Given the description of an element on the screen output the (x, y) to click on. 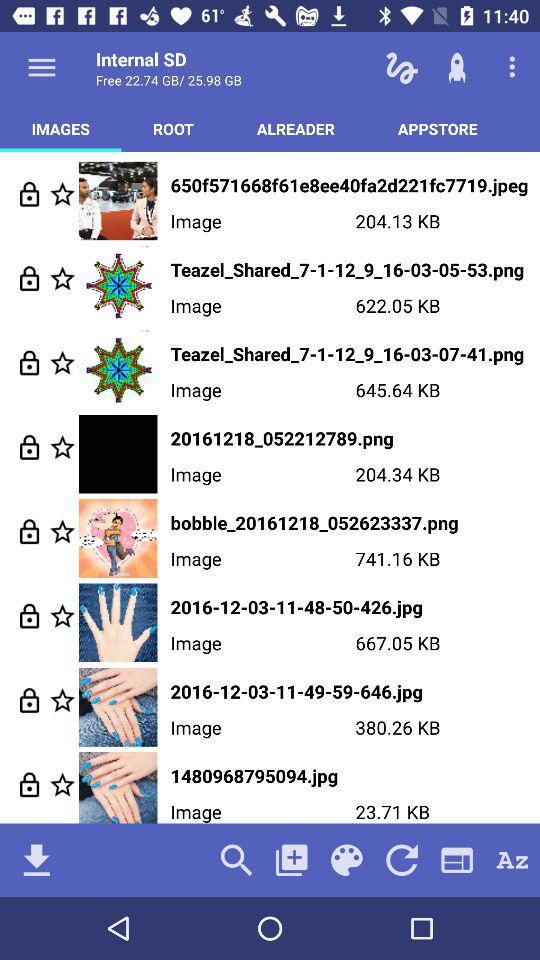
lock an image (29, 531)
